Given the description of an element on the screen output the (x, y) to click on. 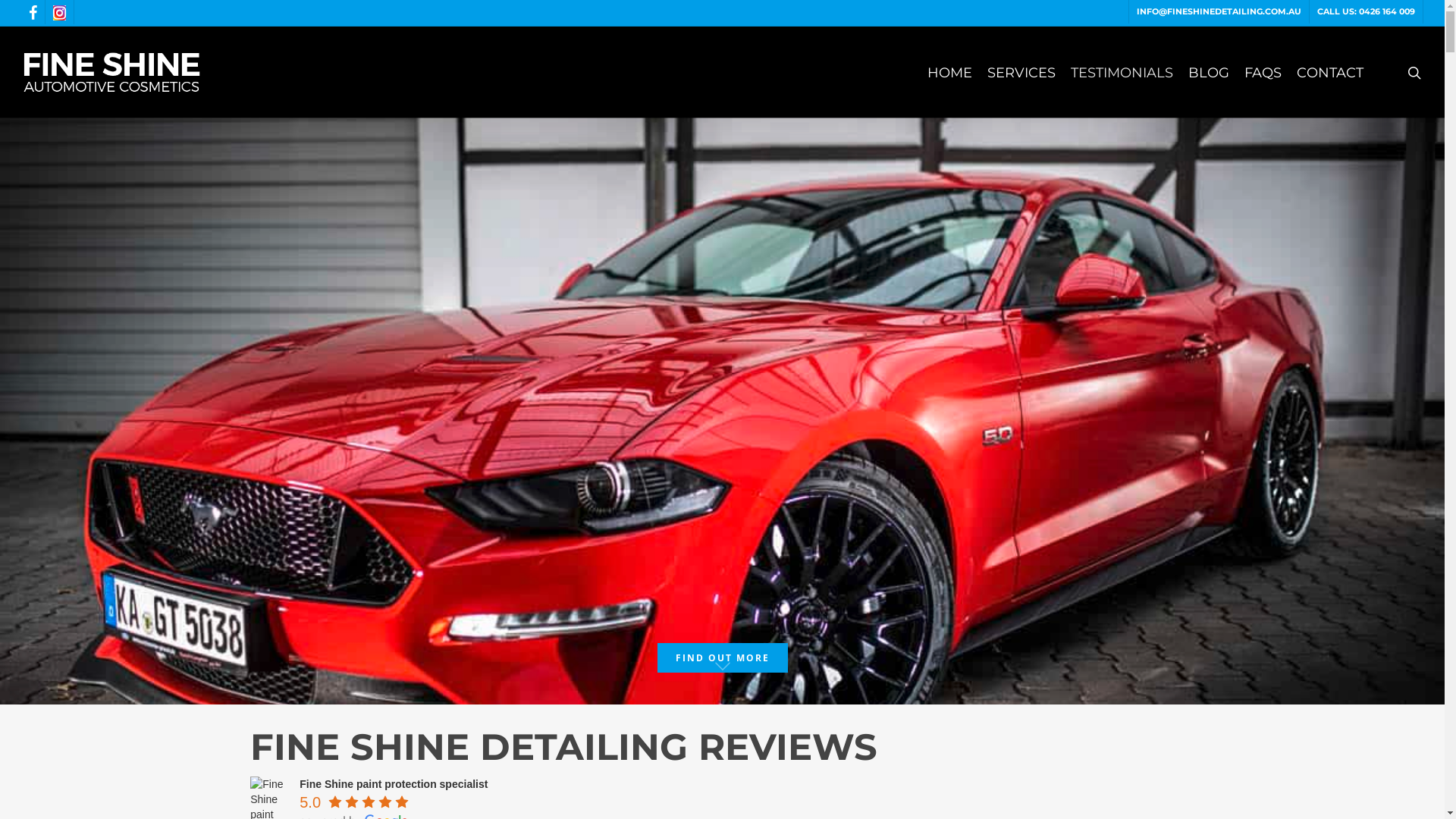
FIND OUT MORE Element type: text (722, 657)
SERVICES Element type: text (1021, 71)
HOME Element type: text (949, 71)
FACEBOOK Element type: text (32, 12)
search Element type: text (1415, 72)
BLOG Element type: text (1208, 71)
CONTACT Element type: text (1330, 71)
TESTIMONIALS Element type: text (1121, 71)
FAQS Element type: text (1262, 71)
INSTAGRAM Element type: text (58, 12)
CALL US: 0426 164 009 Element type: text (1365, 11)
Fine Shine paint protection specialist Element type: text (393, 784)
INFO@FINESHINEDETAILING.COM.AU Element type: text (1218, 11)
